Given the description of an element on the screen output the (x, y) to click on. 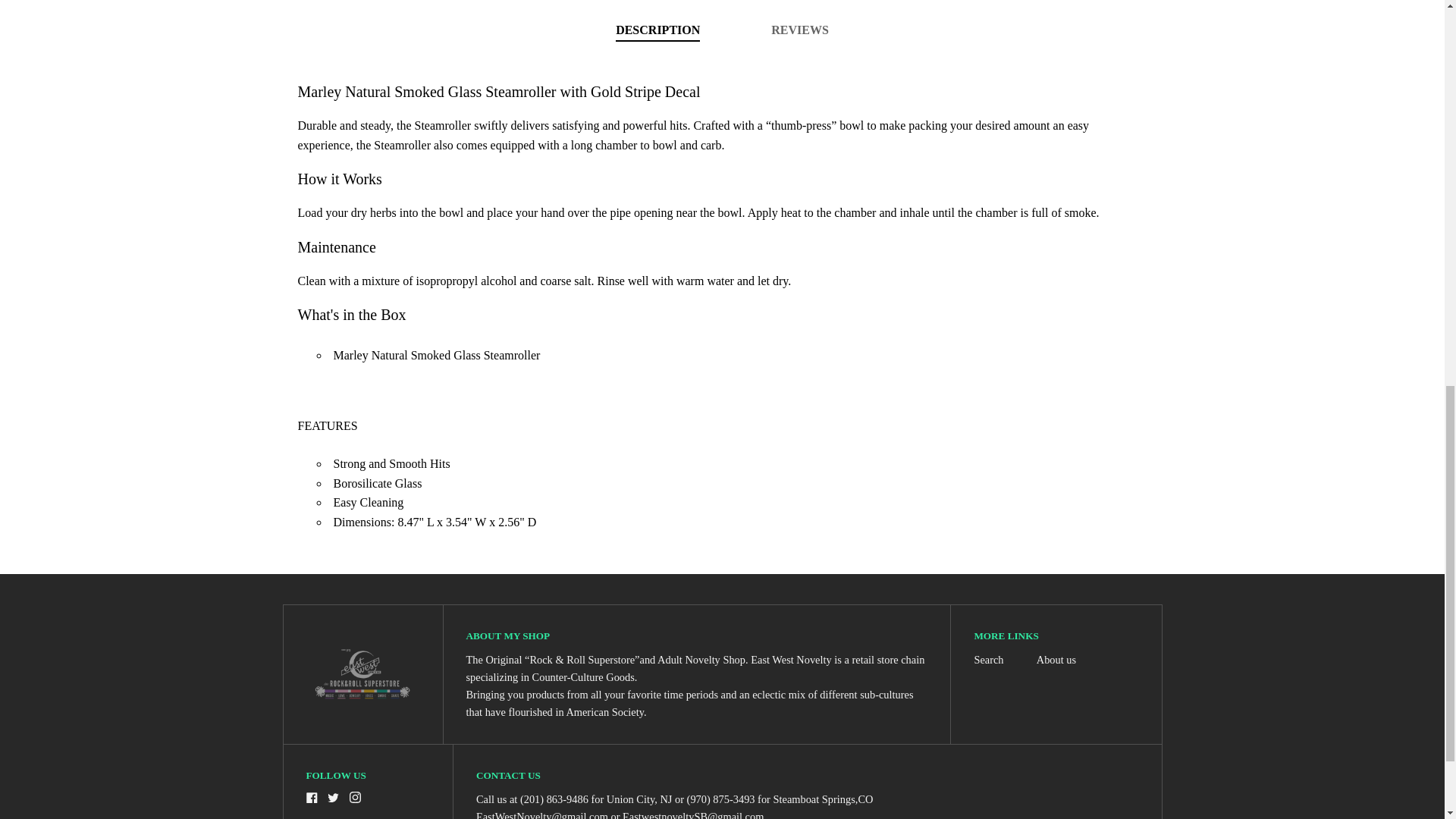
Facebook (311, 797)
Instagram (355, 797)
Twitter (333, 797)
